Given the description of an element on the screen output the (x, y) to click on. 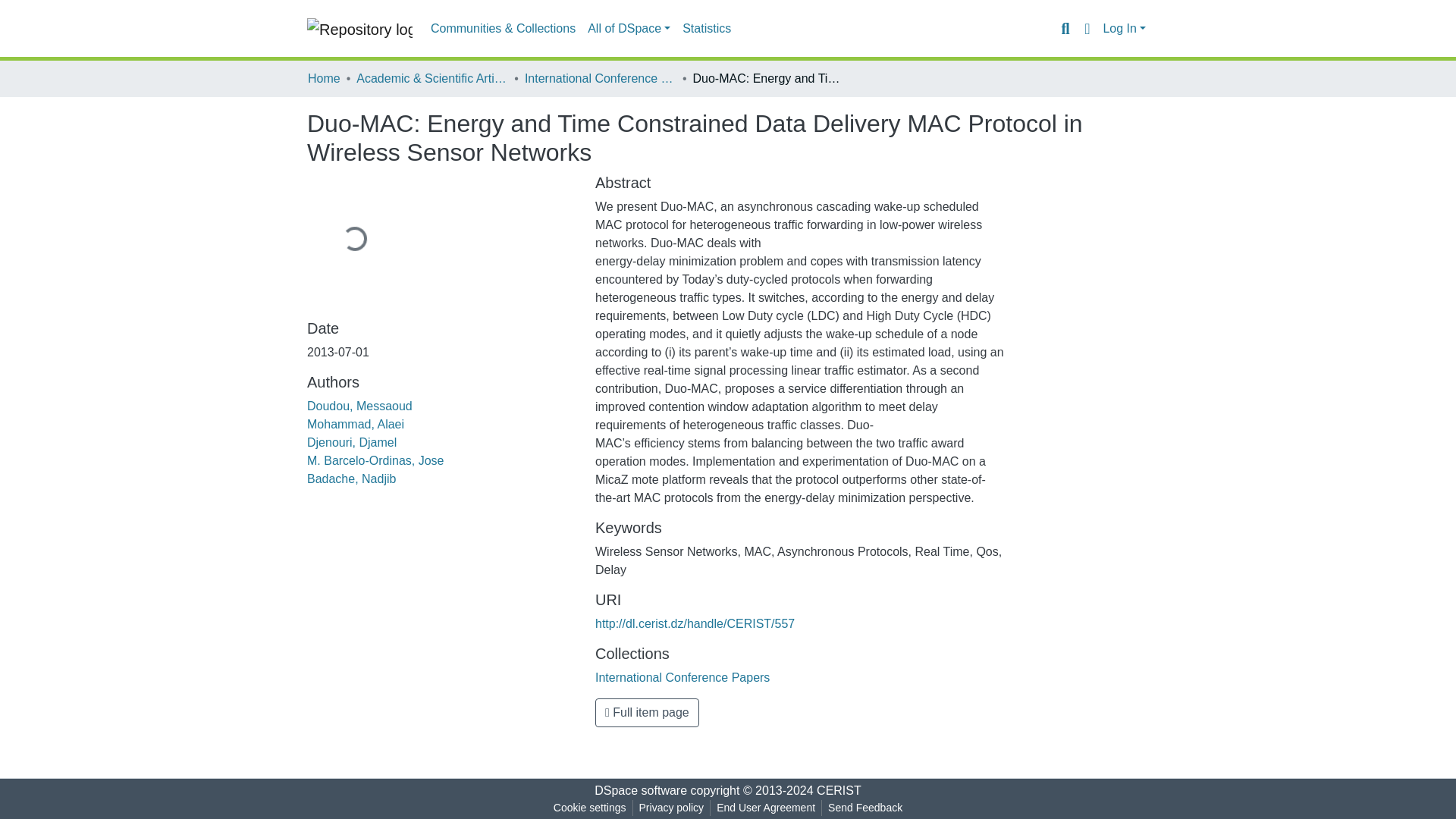
Search (1064, 28)
International Conference Papers (682, 676)
DSpace software (640, 789)
Djenouri, Djamel (351, 441)
Log In (1123, 28)
Badache, Nadjib (351, 478)
Statistics (706, 28)
Mohammad, Alaei (355, 423)
End User Agreement (765, 807)
CERIST (838, 789)
